Given the description of an element on the screen output the (x, y) to click on. 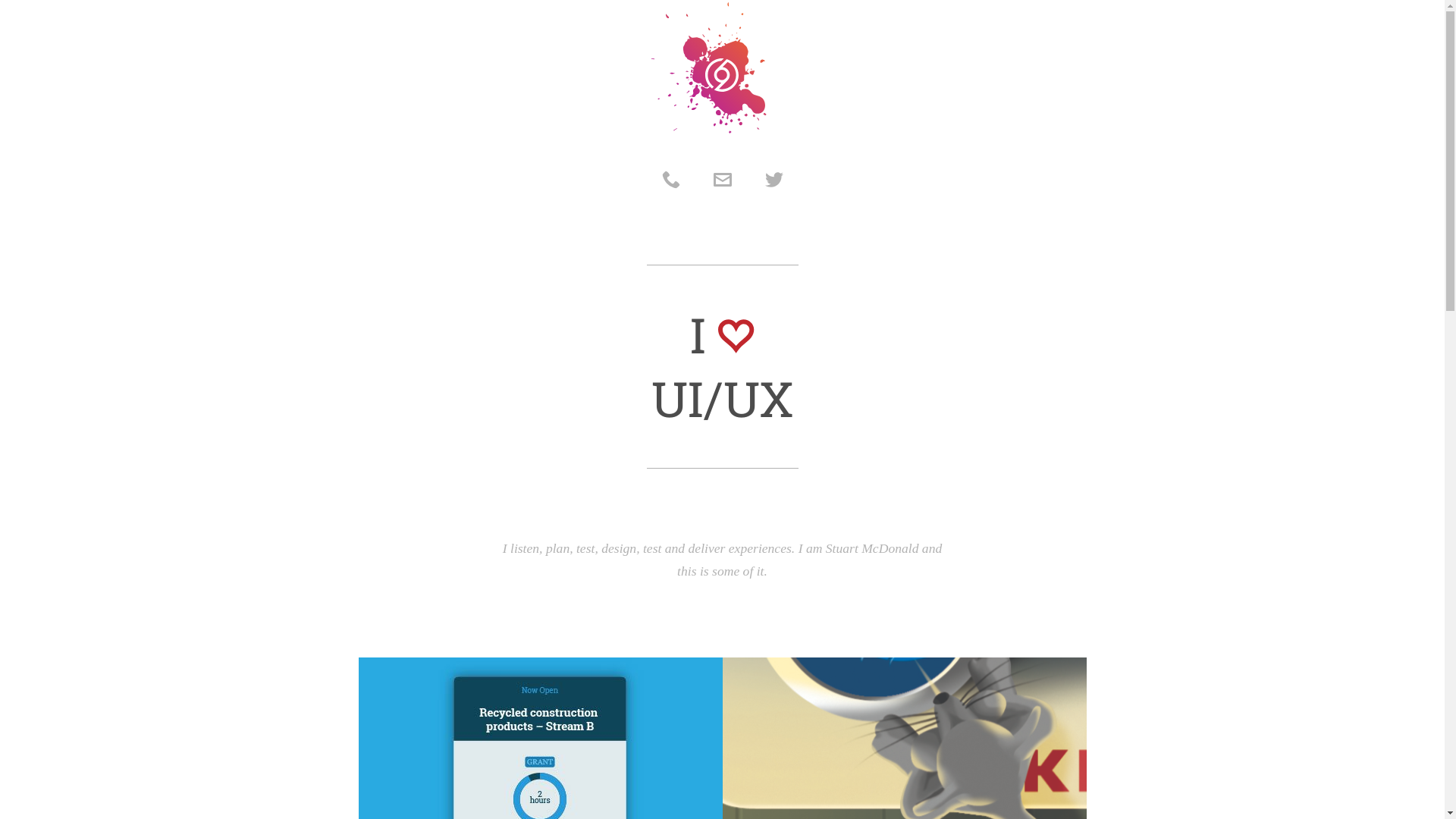
D69 Element type: hover (707, 67)
Phones make calls too yeah? Element type: hover (675, 180)
Stalk me on Twitter Element type: hover (768, 180)
Send us an email Element type: hover (721, 180)
